Given the description of an element on the screen output the (x, y) to click on. 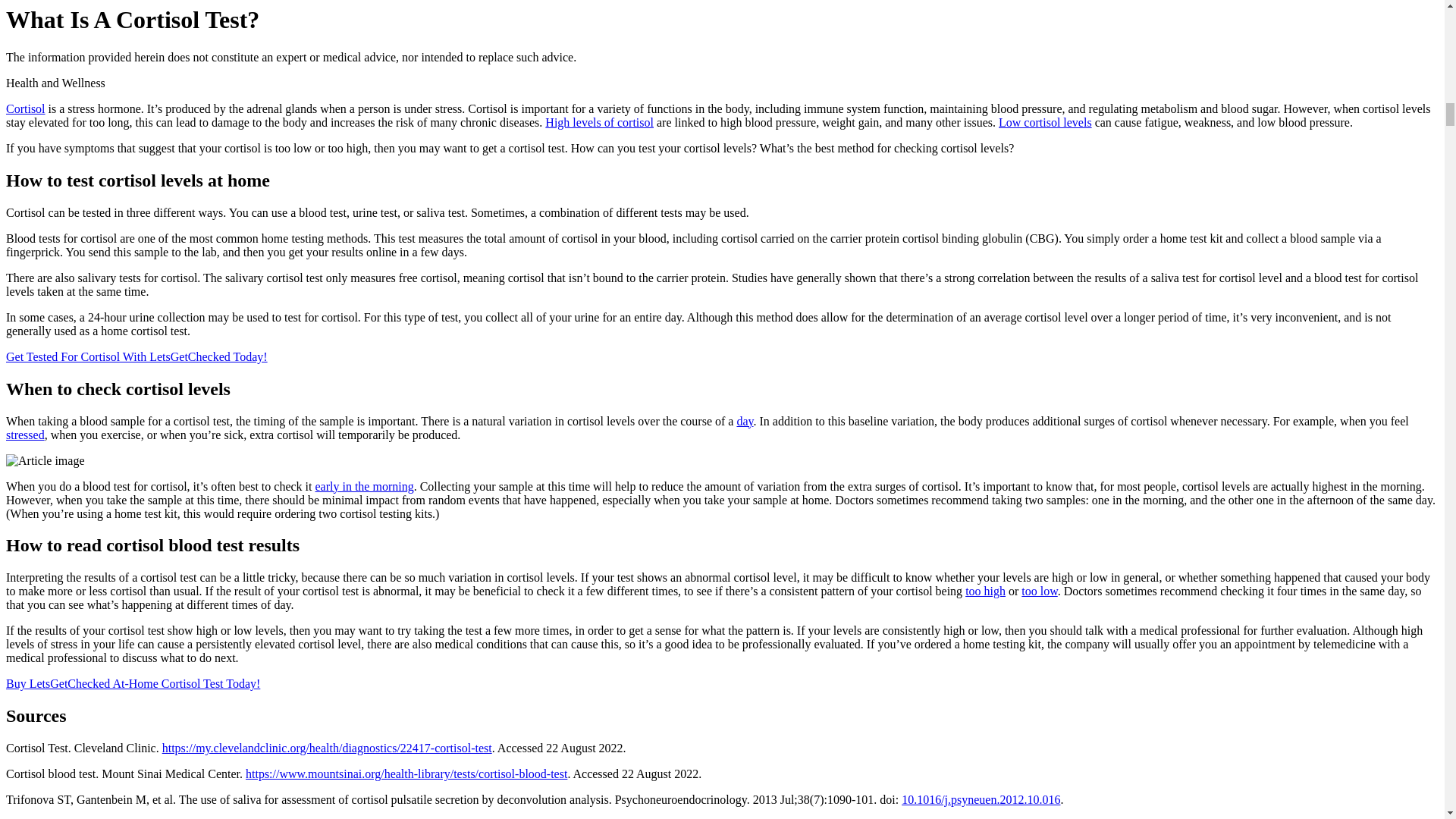
too low (1039, 590)
day (744, 420)
Get Tested For Cortisol With LetsGetChecked Today! (136, 356)
Cortisol (25, 108)
High levels of cortisol (598, 122)
too high (985, 590)
early in the morning (363, 486)
stressed (25, 434)
Low cortisol levels (1045, 122)
Buy LetsGetChecked At-Home Cortisol Test Today! (132, 683)
